Given the description of an element on the screen output the (x, y) to click on. 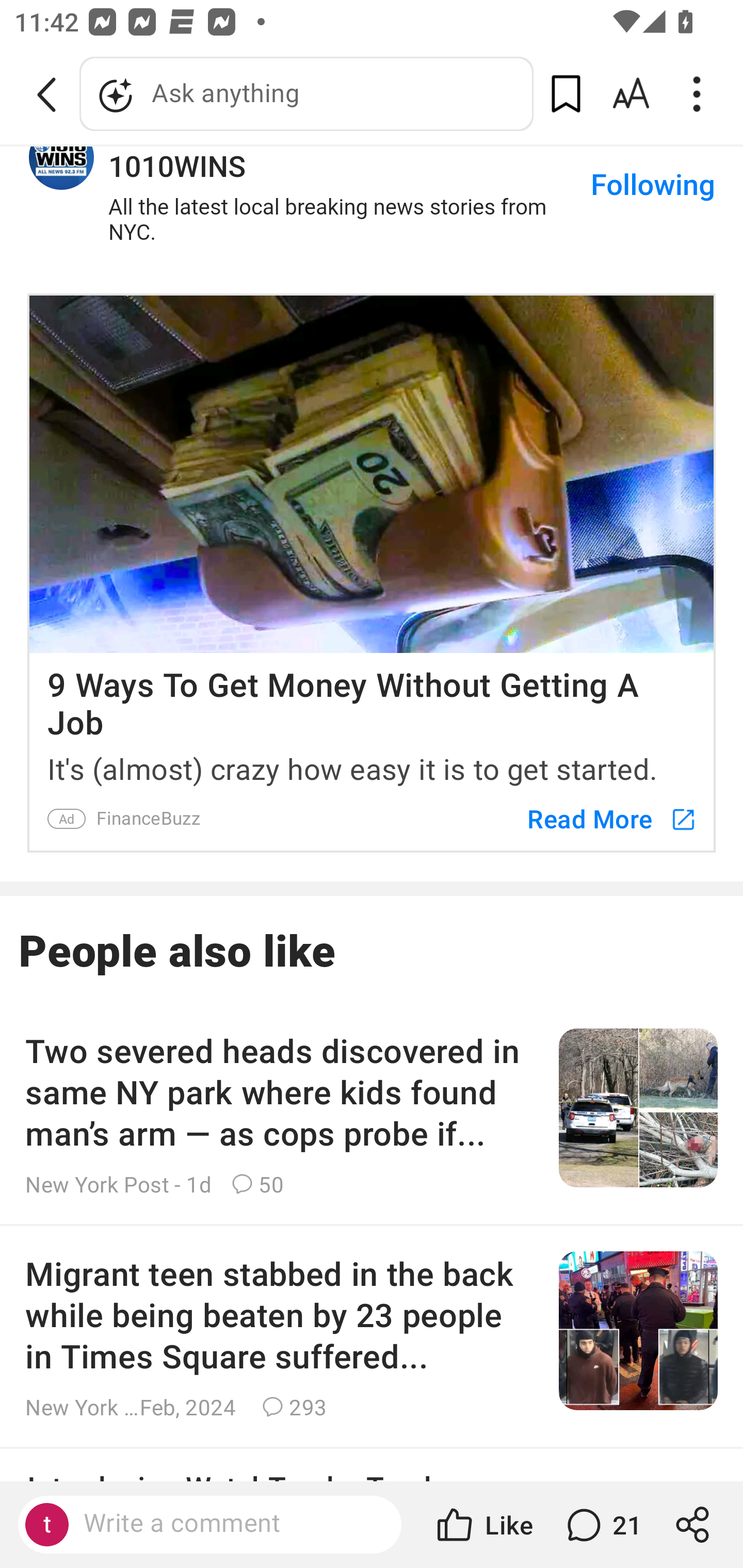
Ask anything (306, 93)
1010WINS (61, 158)
Following (652, 186)
9 Ways To Get Money Without Getting A Job (371, 697)
It's (almost) crazy how easy it is to get started. (371, 765)
Read More (601, 818)
FinanceBuzz (147, 818)
Like (483, 1524)
21 (601, 1524)
Write a comment (226, 1523)
